Given the description of an element on the screen output the (x, y) to click on. 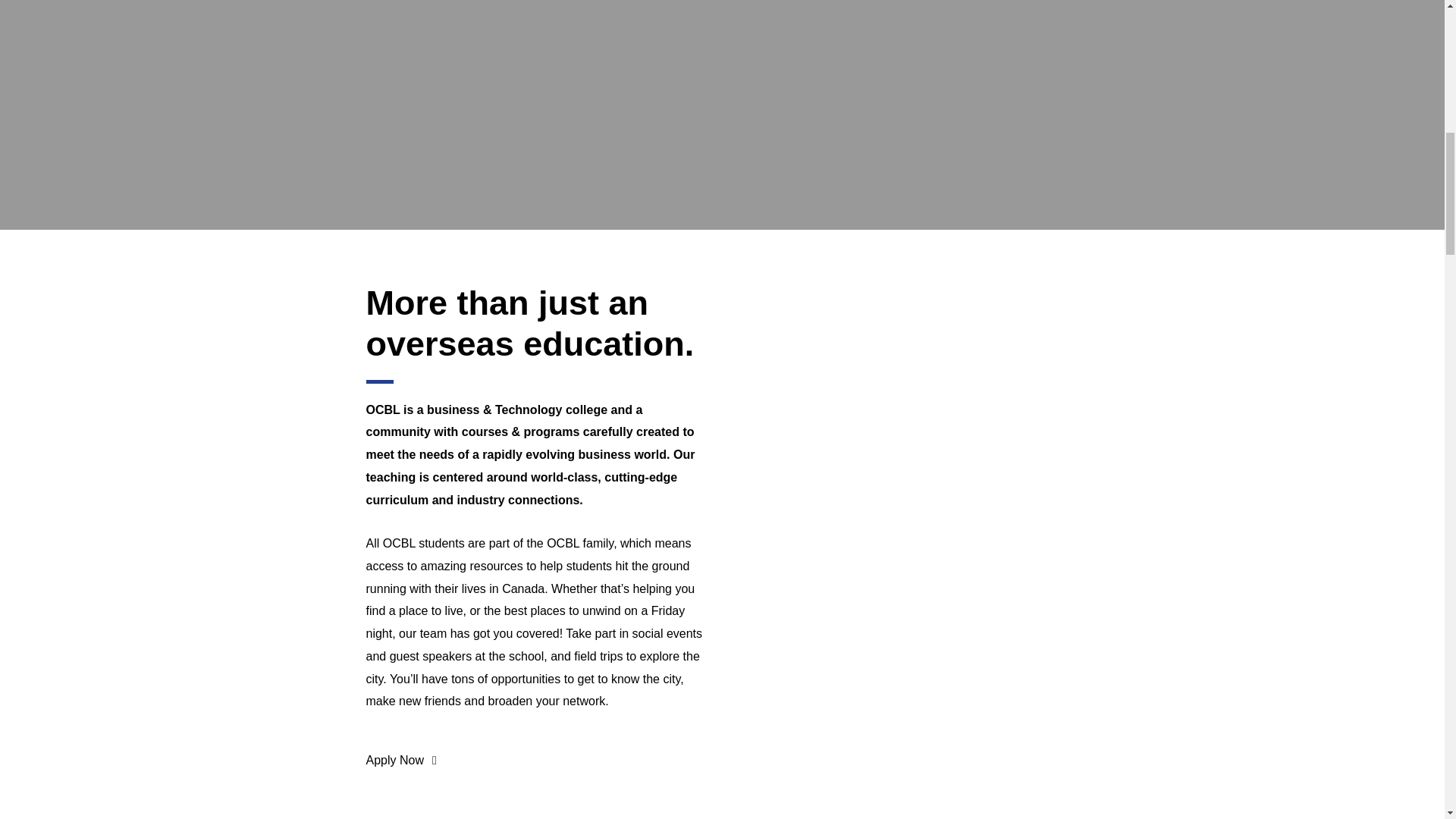
Apply Now (400, 760)
